Given the description of an element on the screen output the (x, y) to click on. 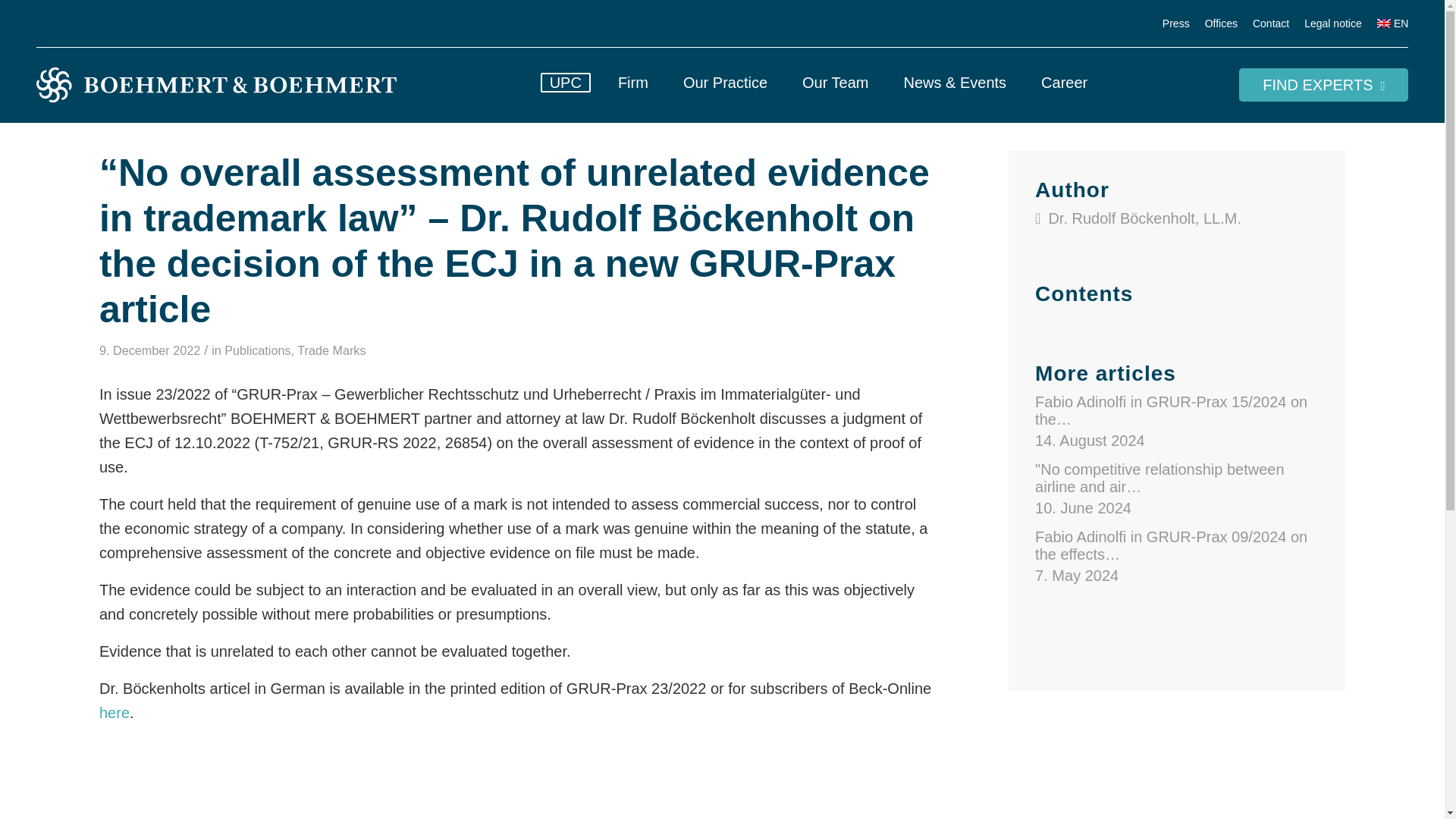
EN (1393, 23)
EN (1393, 23)
Our Team (834, 84)
Contact (1270, 23)
Offices (1221, 23)
Legal notice (1332, 23)
Press (1175, 23)
UPC (565, 84)
Our Practice (724, 84)
FIND EXPERTS (1323, 84)
